Given the description of an element on the screen output the (x, y) to click on. 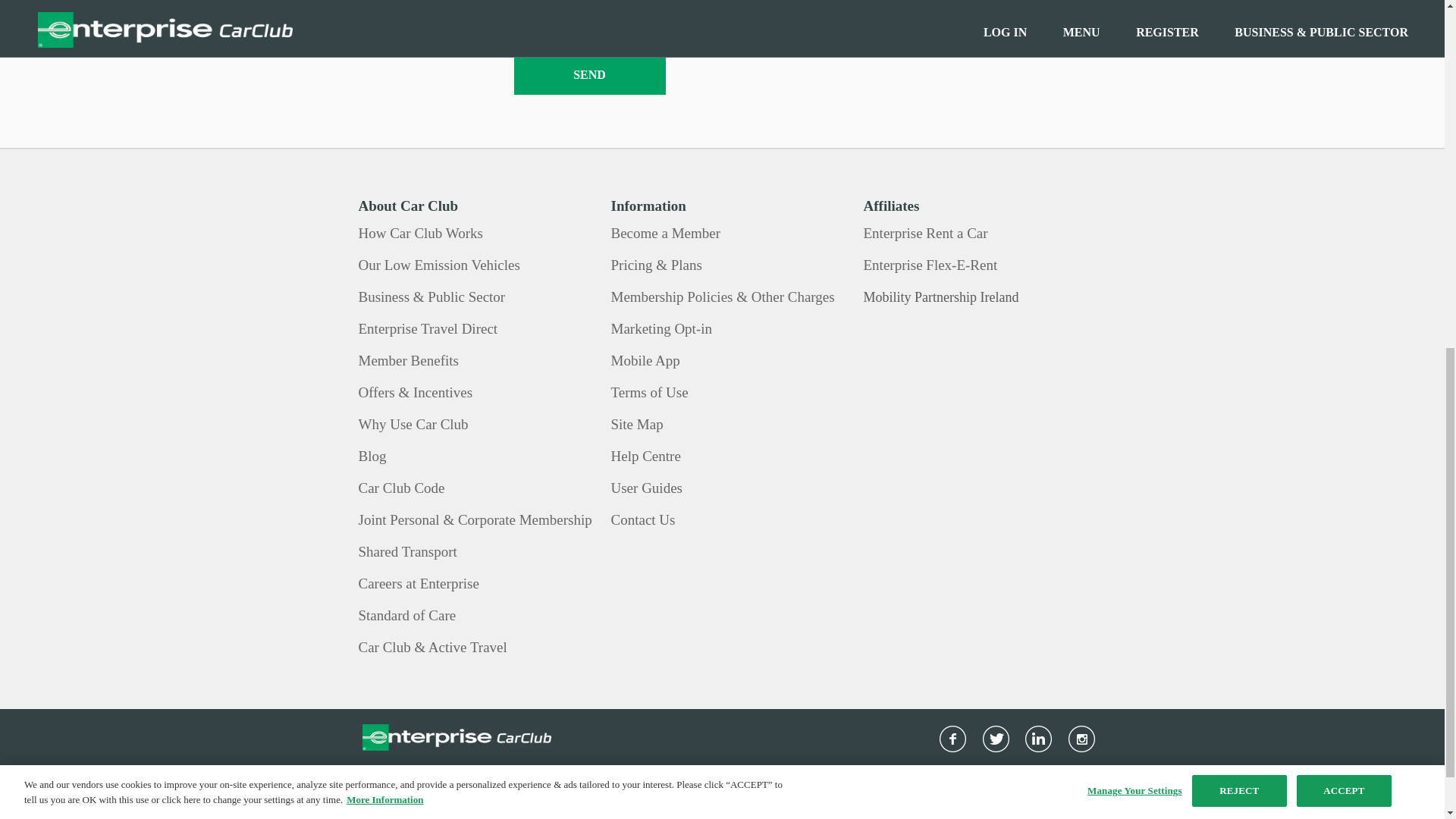
LinkedIn (1038, 738)
Our Low Emission Vehicles (438, 264)
Standard of Care (406, 615)
Shared Transport (407, 551)
Instagram (1080, 738)
Enterprise Travel Direct (427, 328)
Why Use Car Club (412, 424)
Facebook (952, 738)
Become a Member (665, 232)
Member Benefits (408, 360)
Enterprise Car Share (501, 737)
Car Club Code (401, 487)
How Car Club Works (419, 232)
SEND (589, 75)
Twitter (995, 738)
